Given the description of an element on the screen output the (x, y) to click on. 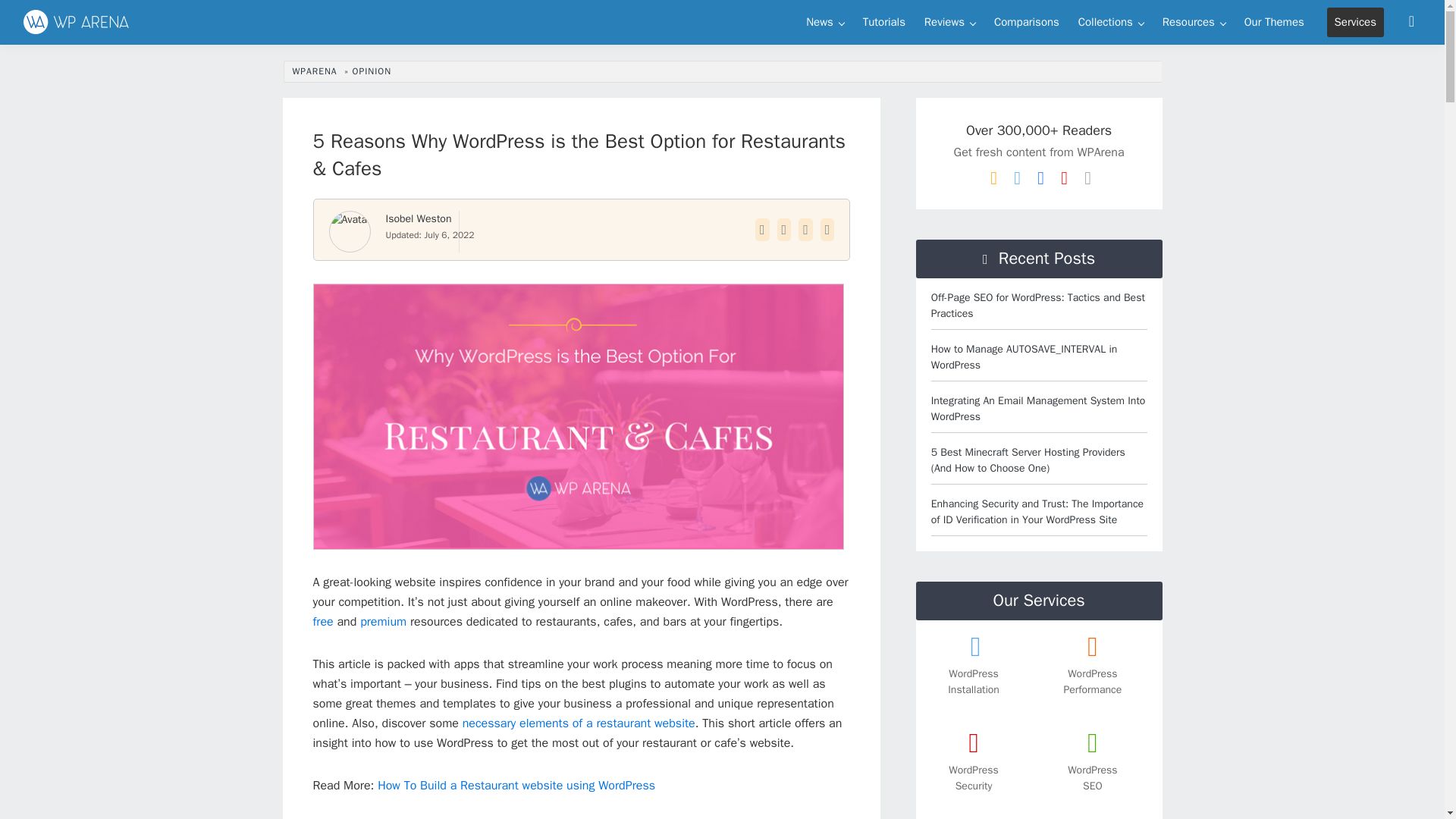
premium (382, 621)
Themes made by WPArena (1273, 21)
WordPress News (824, 21)
Tutorials (884, 21)
OPINION (374, 70)
WordPress Product Comparisons (1027, 21)
Resources (1193, 21)
WordPress Product Collections (1110, 21)
Comparisons (1027, 21)
Reviews (949, 21)
Collections (1110, 21)
How To Build a Restaurant website using WordPress (516, 785)
News (824, 21)
Isobel Weston (418, 218)
